Given the description of an element on the screen output the (x, y) to click on. 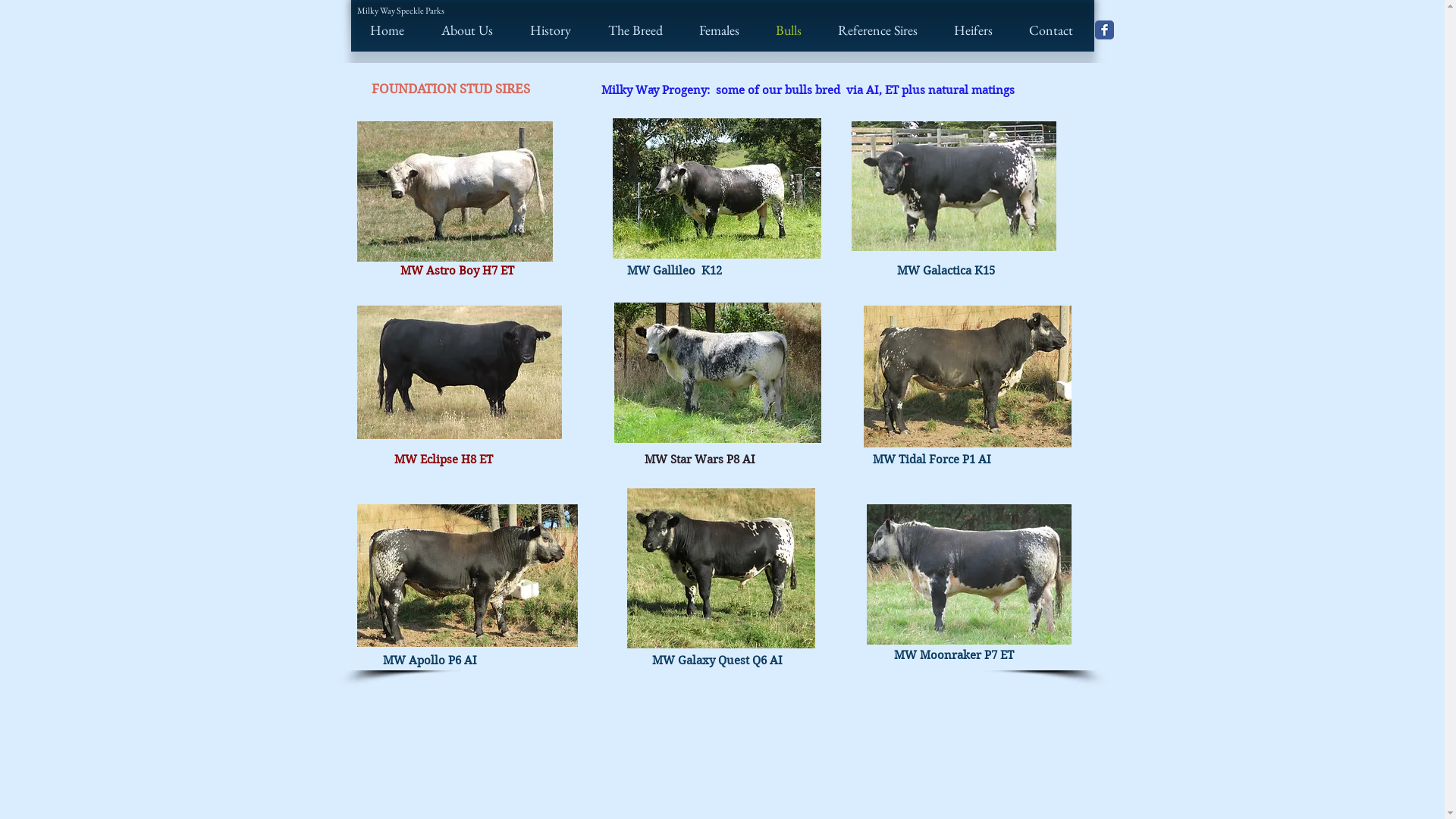
Heifers Element type: text (966, 29)
About Us Element type: text (461, 29)
History Element type: text (544, 29)
MW Astro Boy Element type: hover (454, 191)
Bulls Element type: text (783, 29)
Home Element type: text (381, 29)
Contact Element type: text (1045, 29)
MW Eclipse Senior Bull Element type: hover (458, 372)
Galactica 2 yrs.JPG Element type: hover (952, 186)
Females Element type: text (712, 29)
The Breed Element type: text (629, 29)
Reference Sires Element type: text (872, 29)
